Given the description of an element on the screen output the (x, y) to click on. 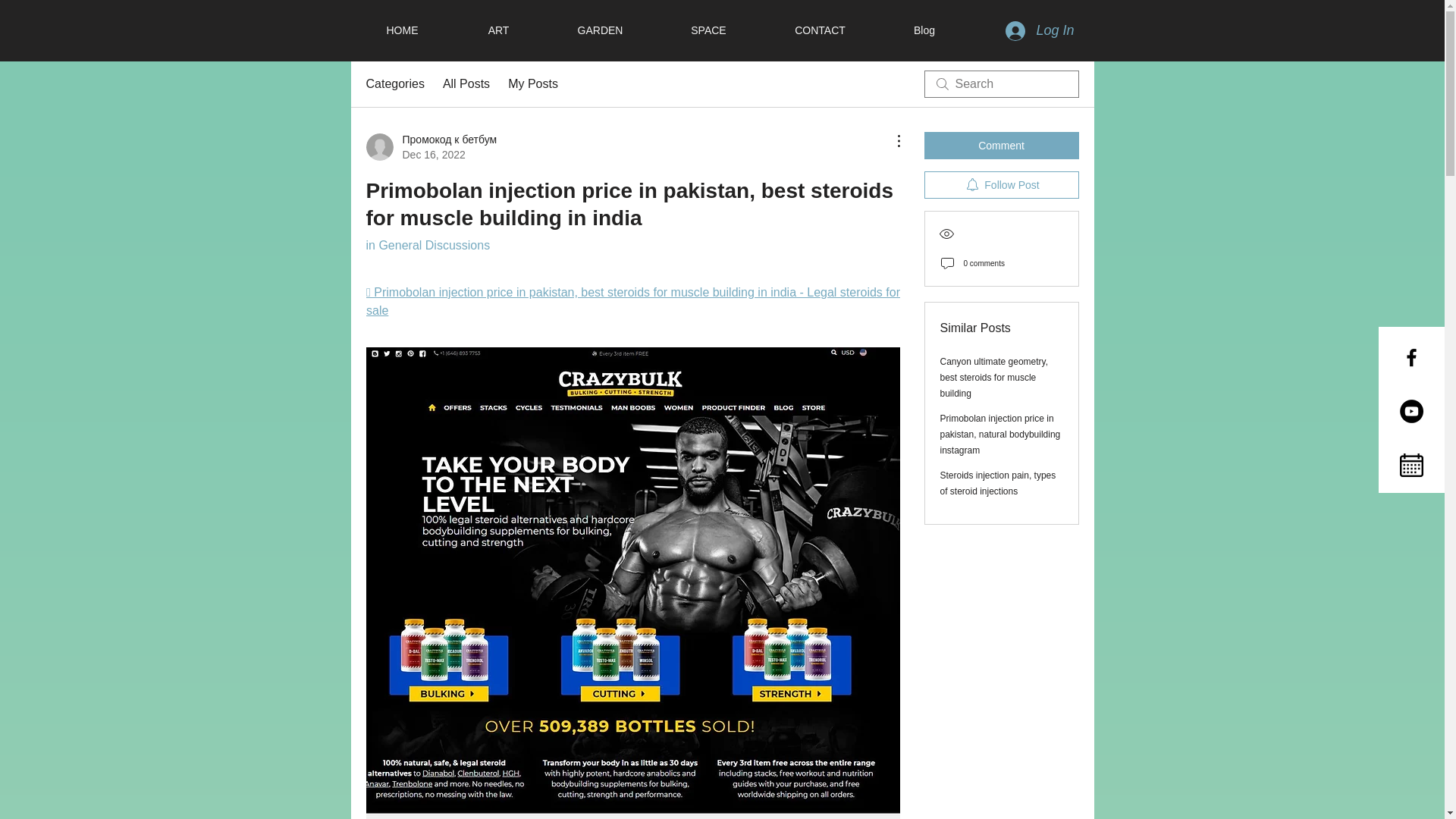
in General Discussions (427, 245)
Comment (1000, 144)
HOME (401, 29)
SPACE (708, 29)
CONTACT (819, 29)
Follow Post (1000, 185)
Categories (394, 84)
Steroids injection pain, types of steroid injections (998, 483)
Canyon ultimate geometry, best steroids for muscle building (994, 377)
